Given the description of an element on the screen output the (x, y) to click on. 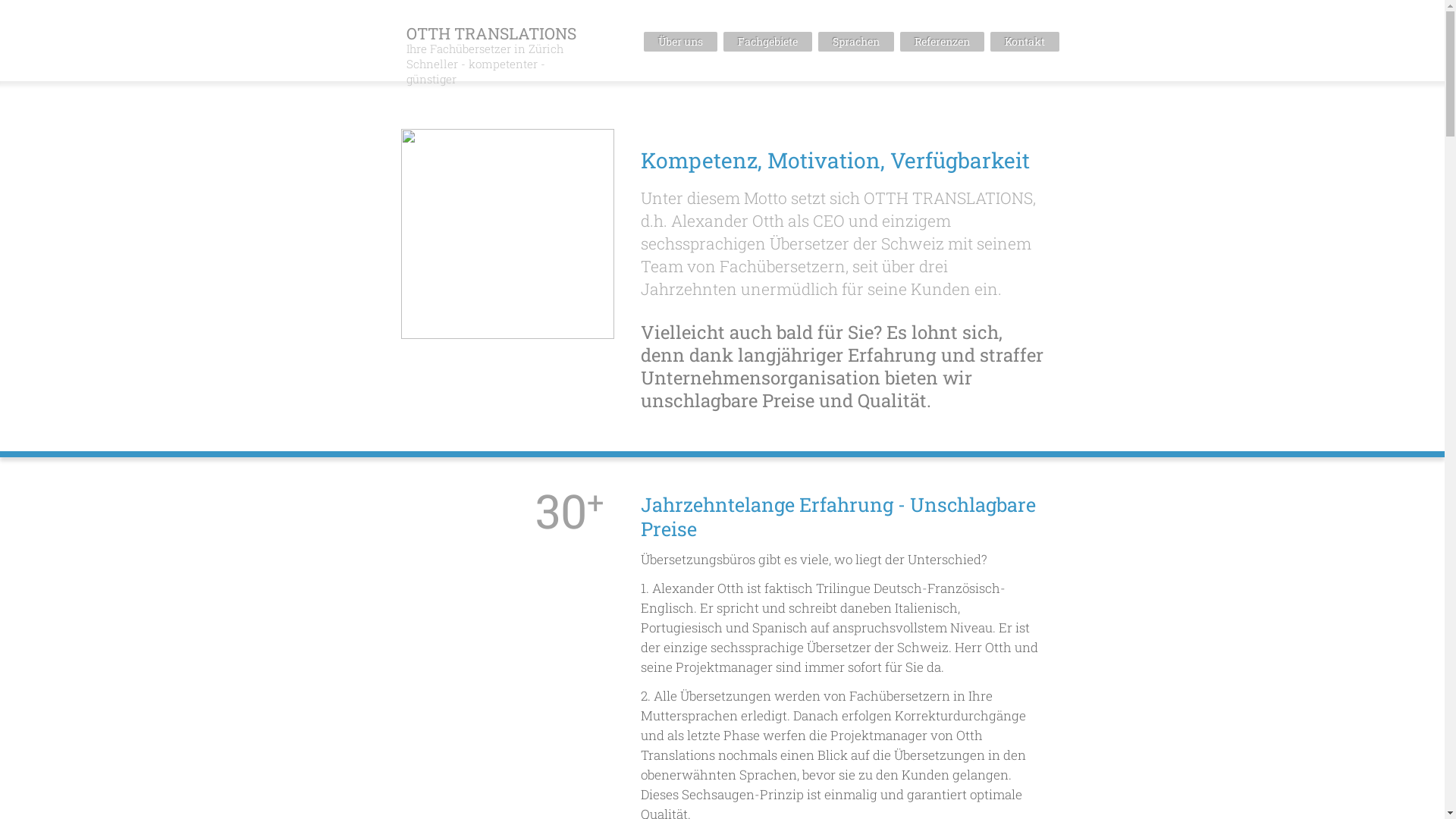
Fachgebiete Element type: text (767, 41)
OTTH TRANSLATIONS Element type: text (491, 32)
Sprachen Element type: text (855, 41)
Referenzen Element type: text (941, 41)
Kontakt Element type: text (1024, 41)
